Given the description of an element on the screen output the (x, y) to click on. 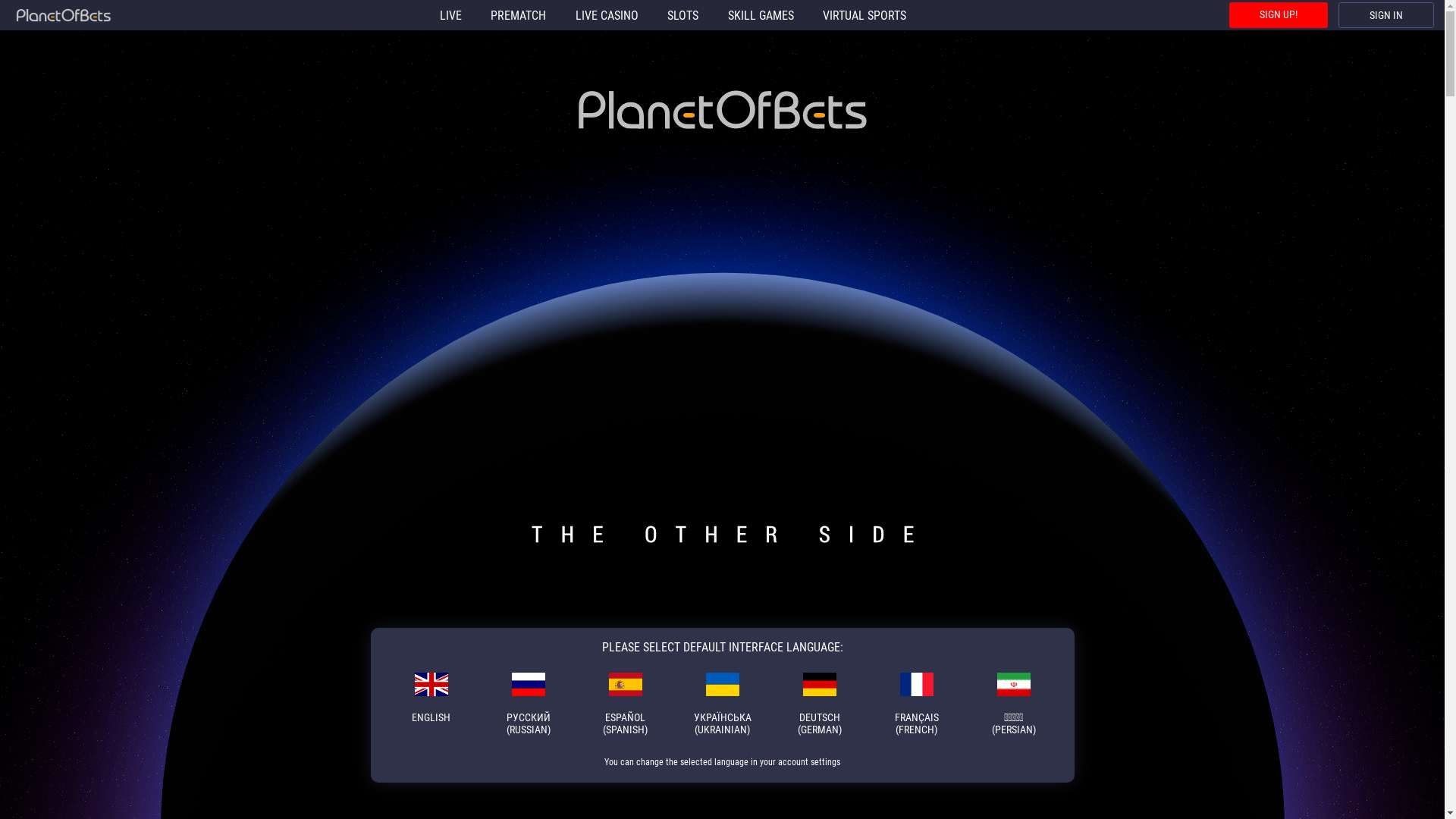
VIRTUAL SPORTS Element type: text (864, 14)
PREMATCH Element type: text (518, 14)
DEUTSCH (GERMAN) Element type: text (818, 703)
ENGLISH Element type: text (430, 703)
LIVE CASINO Element type: text (606, 14)
SIGN IN Element type: text (1386, 15)
SIGN UP! Element type: text (1278, 15)
LIVE Element type: text (450, 14)
SLOTS Element type: text (682, 14)
SKILL GAMES Element type: text (759, 14)
